Given the description of an element on the screen output the (x, y) to click on. 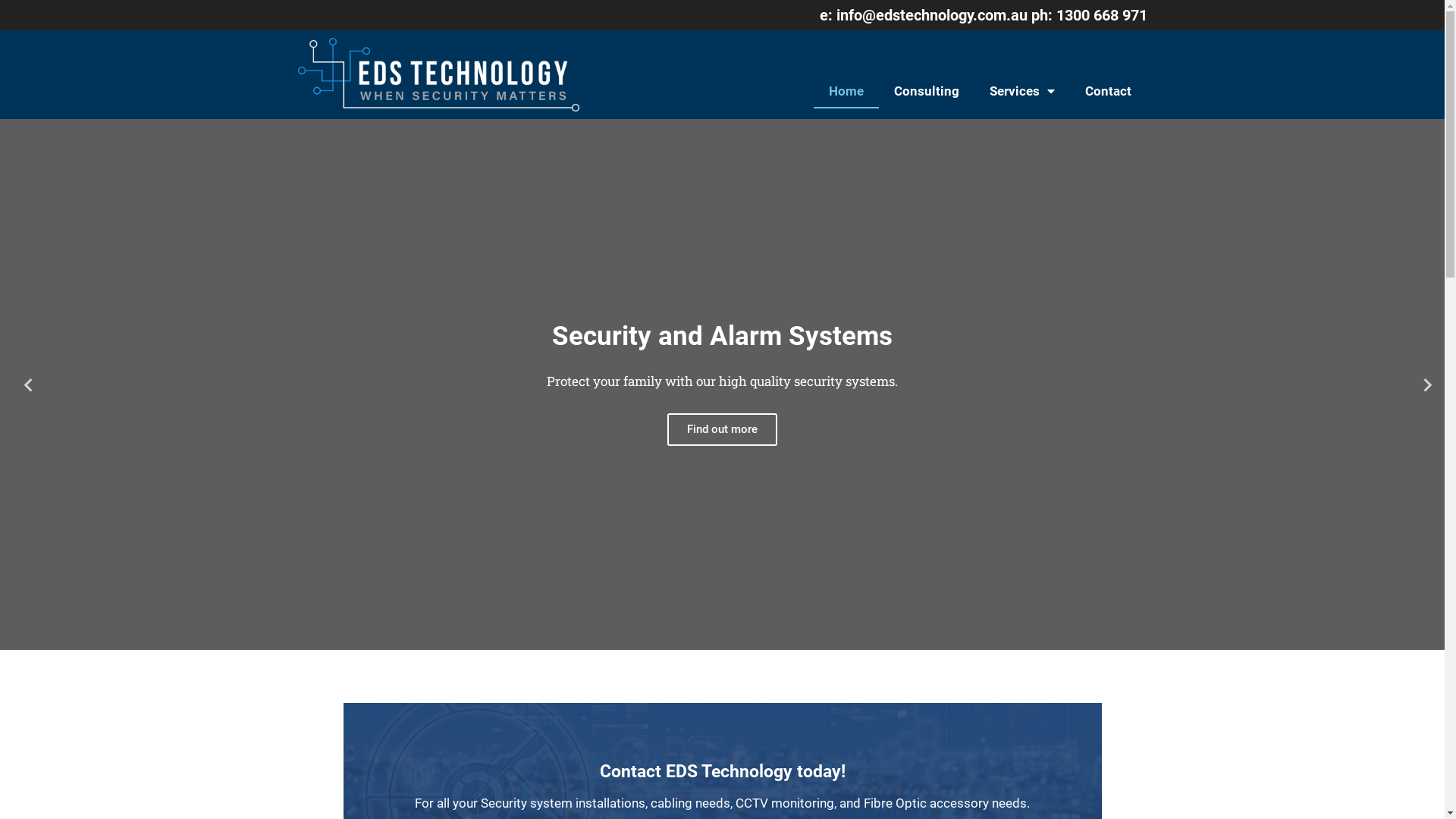
Next Element type: text (1421, 384)
Consulting Element type: text (926, 90)
Home Element type: text (845, 90)
e: info@edstechnology.com.au Element type: text (924, 15)
1300 668 971 Element type: text (1100, 15)
Services Element type: text (1022, 90)
Previous Element type: text (22, 384)
Contact Element type: text (1108, 90)
